Given the description of an element on the screen output the (x, y) to click on. 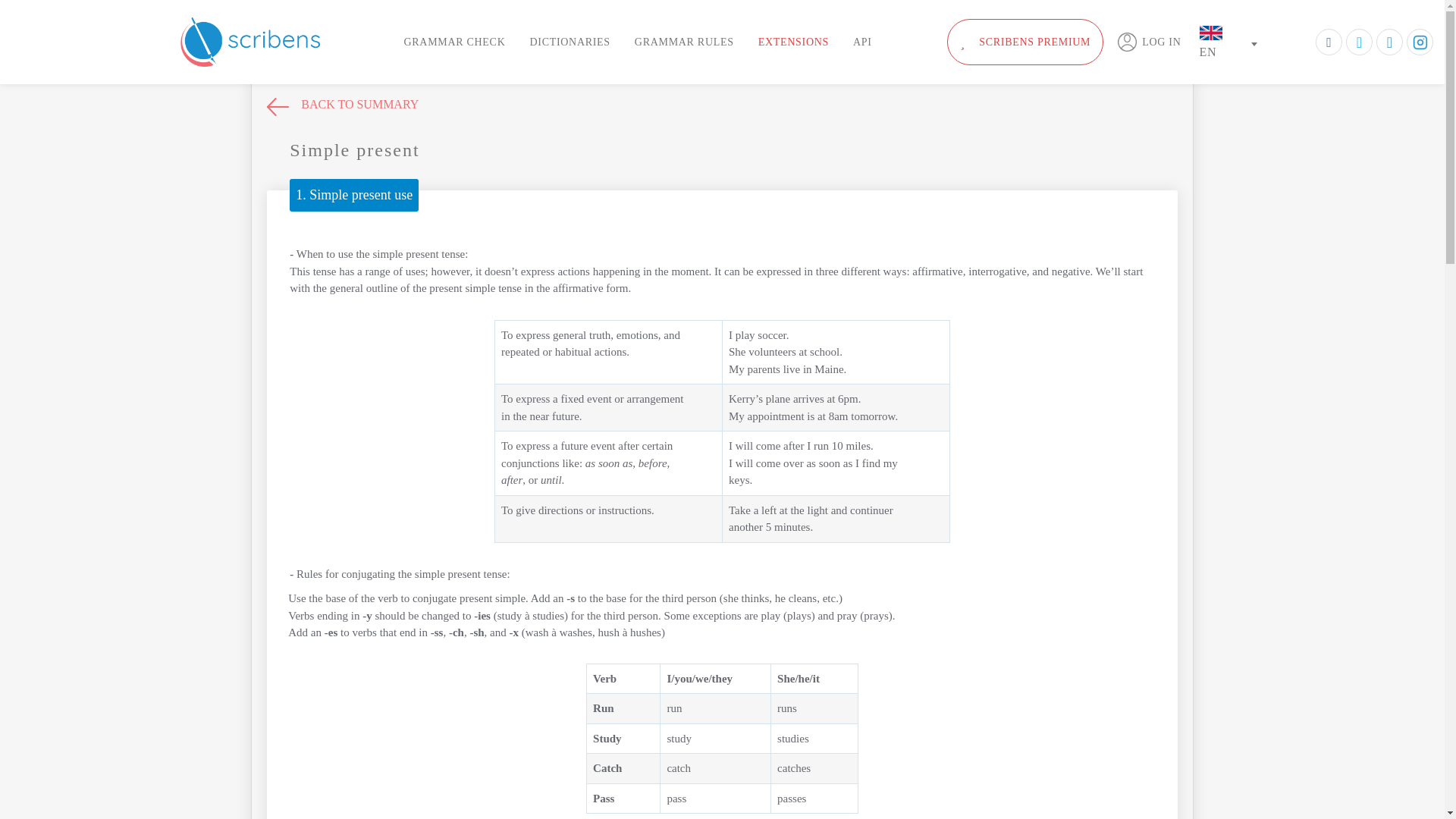
GRAMMAR RULES (684, 42)
BACK TO SUMMARY (342, 107)
EXTENSIONS (793, 42)
LOG IN (1148, 42)
DICTIONARIES (568, 42)
SCRIBENS PREMIUM (1024, 42)
GRAMMAR CHECK (453, 42)
GRAMMAR CHECKER (250, 41)
1. Simple present use (353, 194)
